Given the description of an element on the screen output the (x, y) to click on. 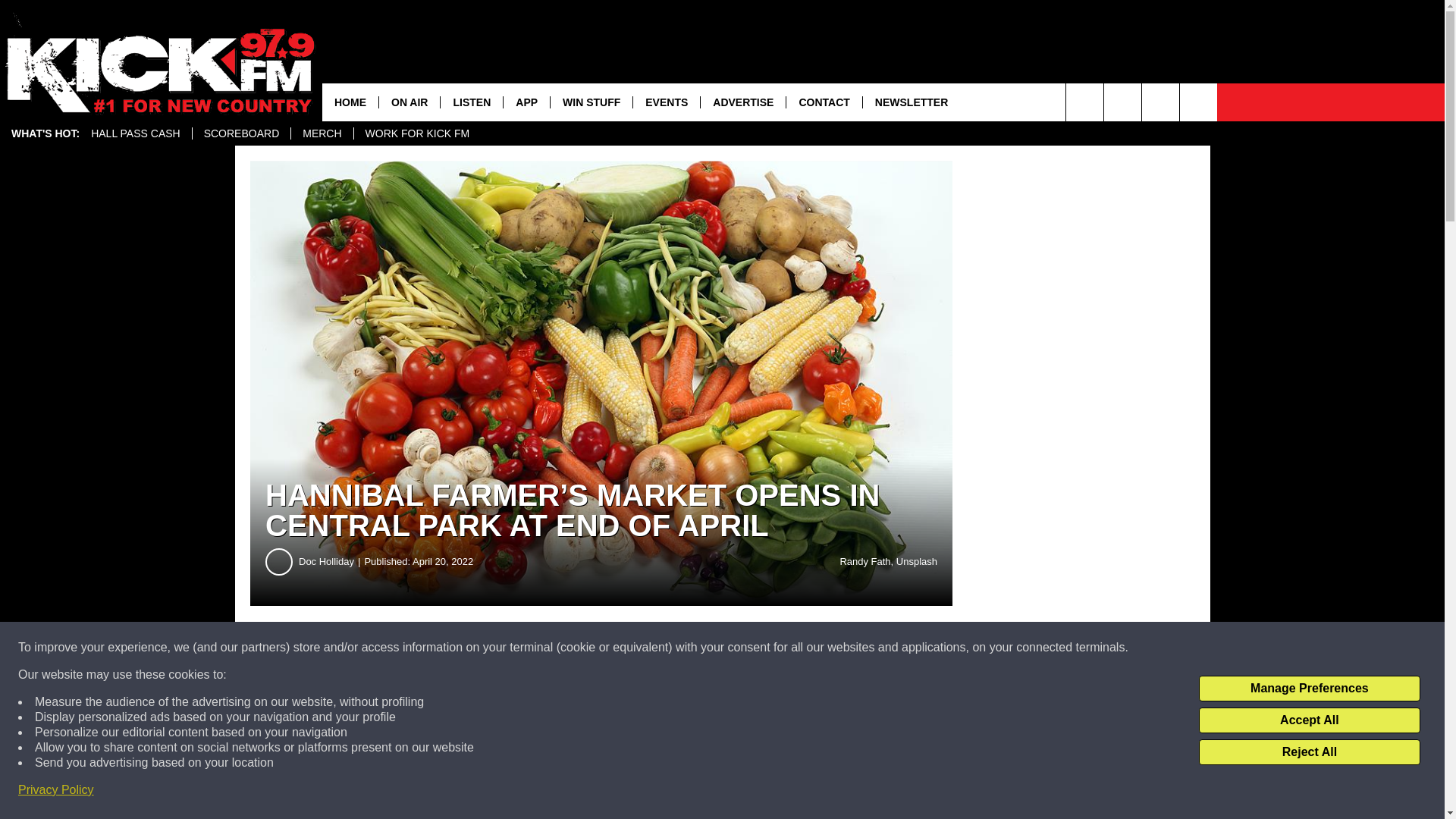
MERCH (320, 133)
Accept All (1309, 720)
ADVERTISE (743, 102)
WORK FOR KICK FM (417, 133)
HALL PASS CASH (136, 133)
Share on Twitter (741, 647)
EVENTS (665, 102)
ON AIR (408, 102)
SCOREBOARD (241, 133)
Manage Preferences (1309, 688)
